Given the description of an element on the screen output the (x, y) to click on. 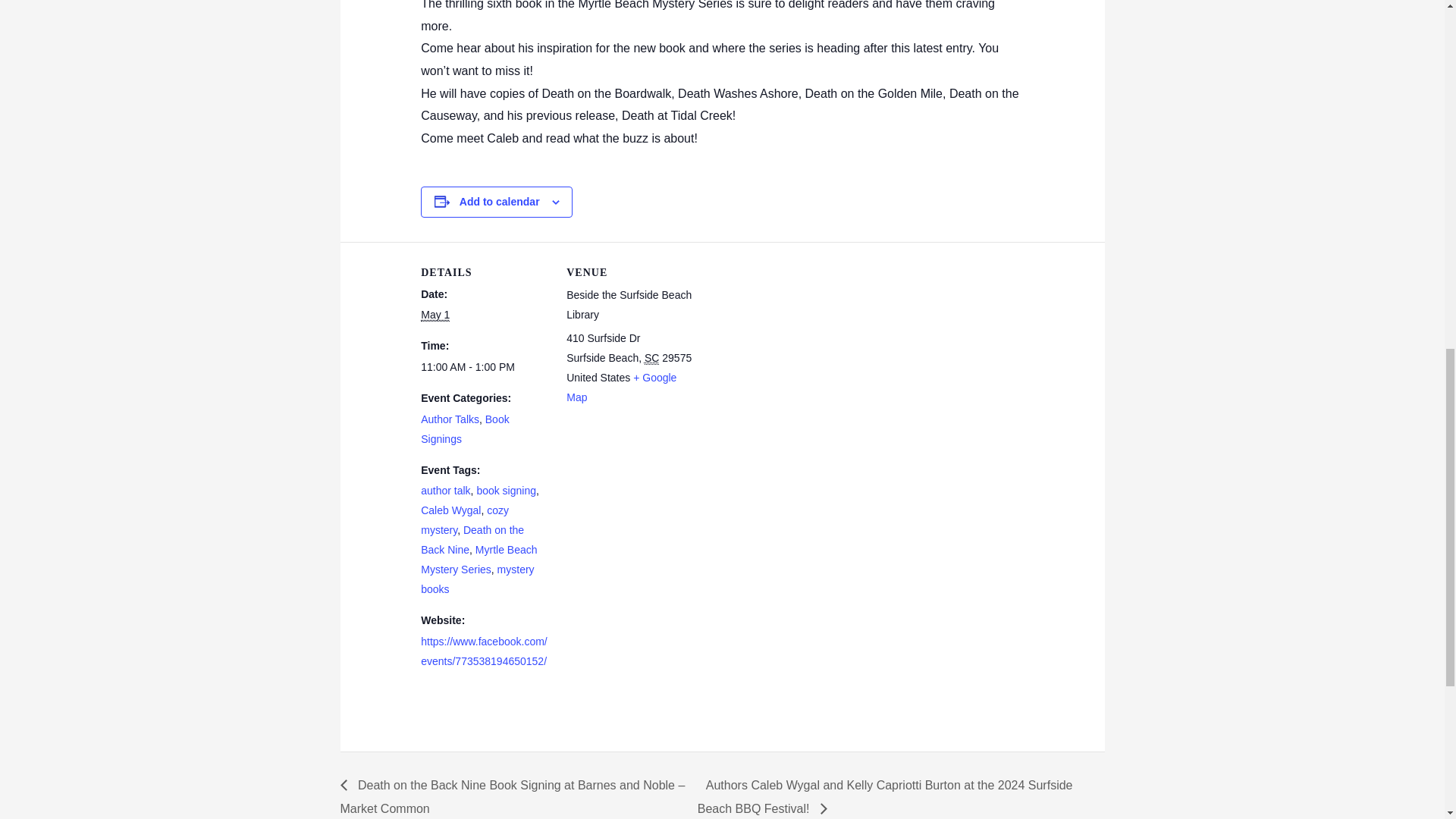
Myrtle Beach Mystery Series (478, 559)
cozy mystery (464, 520)
2024-05-01 (434, 314)
2024-05-01 (484, 367)
Author Talks (449, 419)
book signing (505, 490)
South Carolina (652, 358)
Caleb Wygal (450, 510)
Book Signings (464, 429)
author talk (445, 490)
Add to calendar (500, 201)
mystery books (477, 579)
Click to view a Google Map (621, 387)
Death on the Back Nine (472, 540)
